Given the description of an element on the screen output the (x, y) to click on. 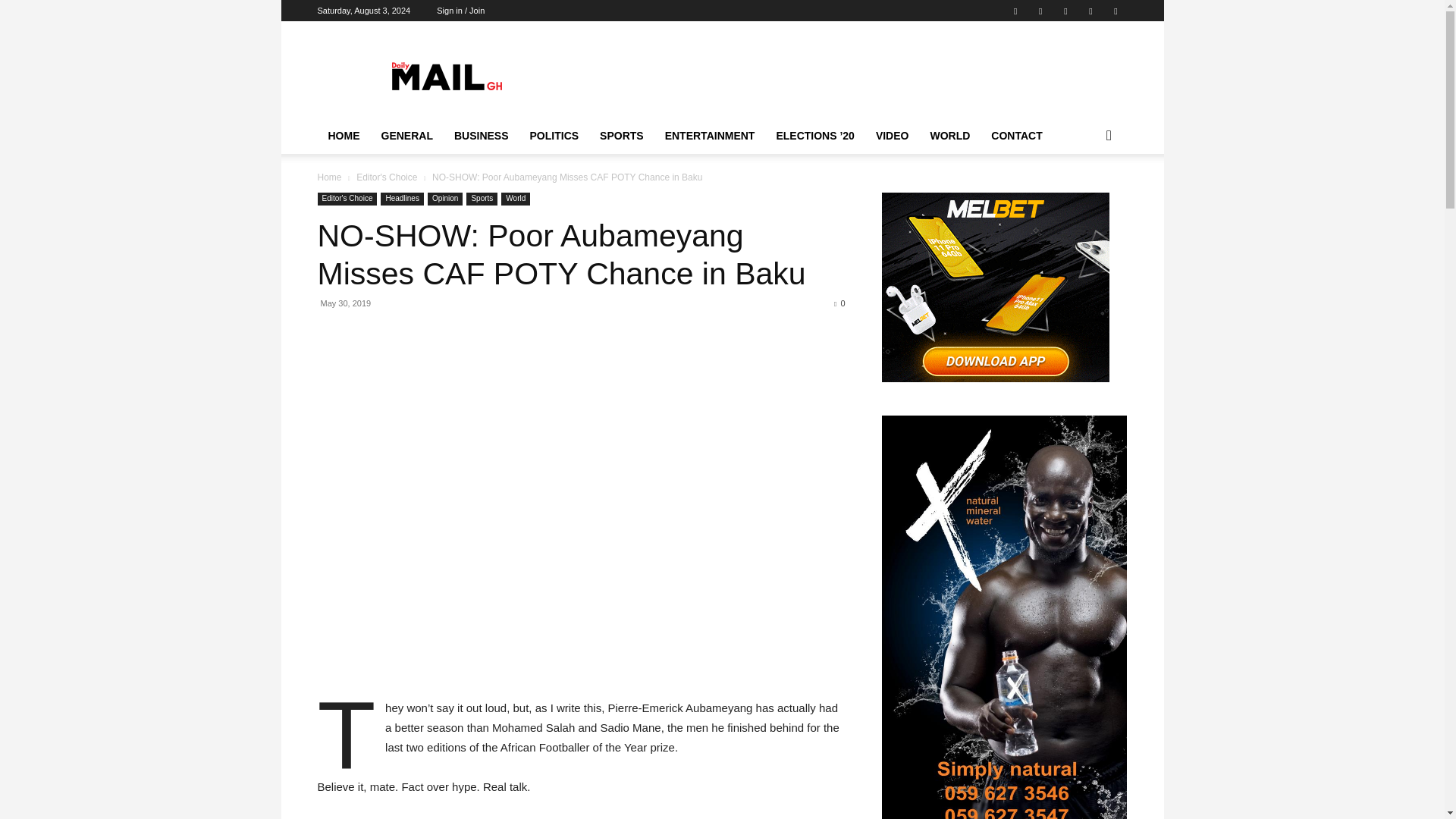
Twitter (1065, 10)
VIDEO (892, 135)
HOME (343, 135)
GENERAL (405, 135)
Facebook (1015, 10)
BUSINESS (481, 135)
Twitch (1040, 10)
Vimeo (1090, 10)
View all posts in Editor's Choice (386, 176)
WORLD (948, 135)
VKontakte (1114, 10)
SPORTS (621, 135)
POLITICS (554, 135)
ENTERTAINMENT (709, 135)
